Given the description of an element on the screen output the (x, y) to click on. 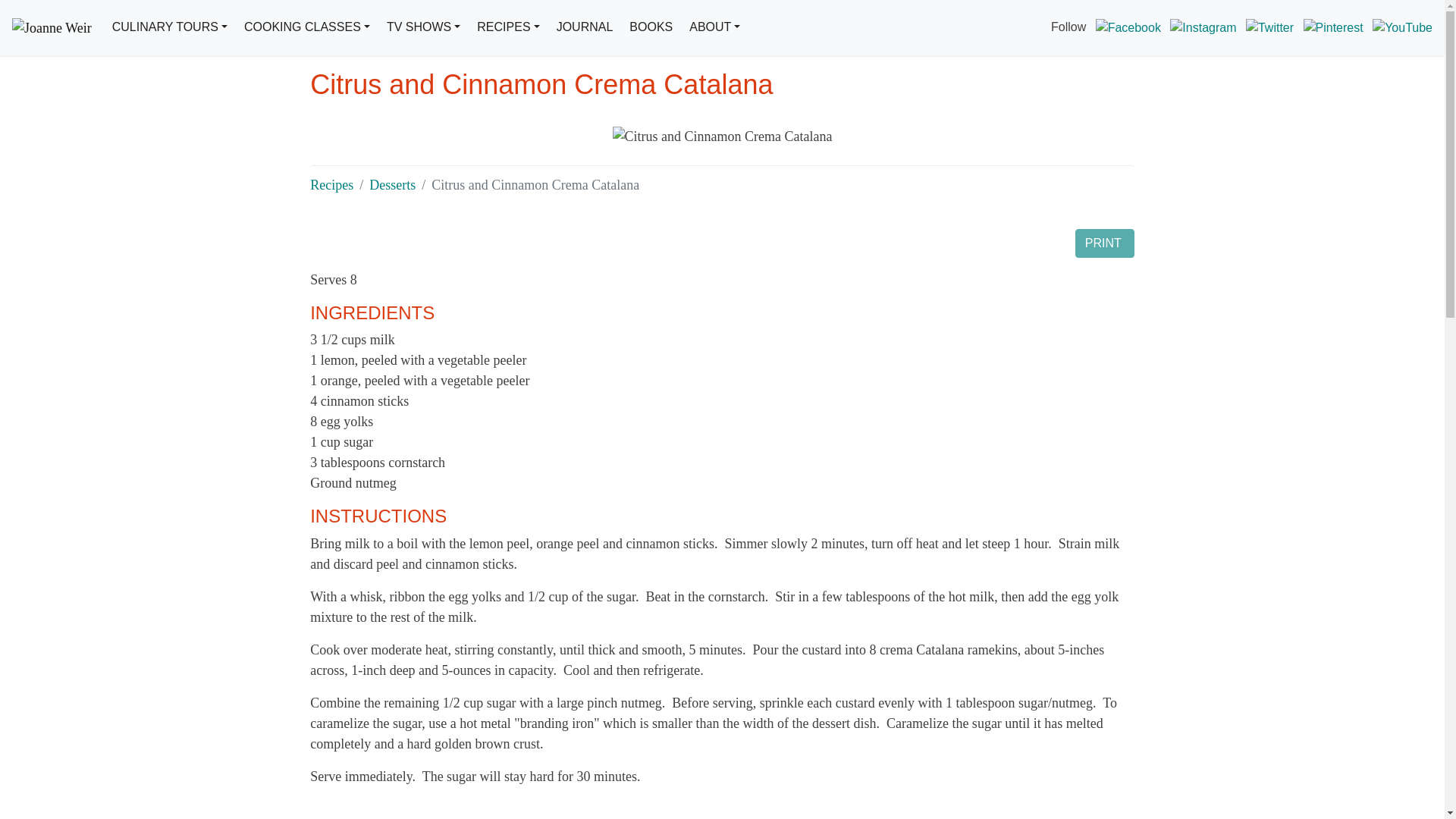
TV SHOWS (422, 27)
JOURNAL (584, 27)
Search (773, 96)
COOKING CLASSES (307, 27)
CULINARY TOURS (169, 27)
RECIPES (507, 27)
Joanne Weir (51, 27)
